Given the description of an element on the screen output the (x, y) to click on. 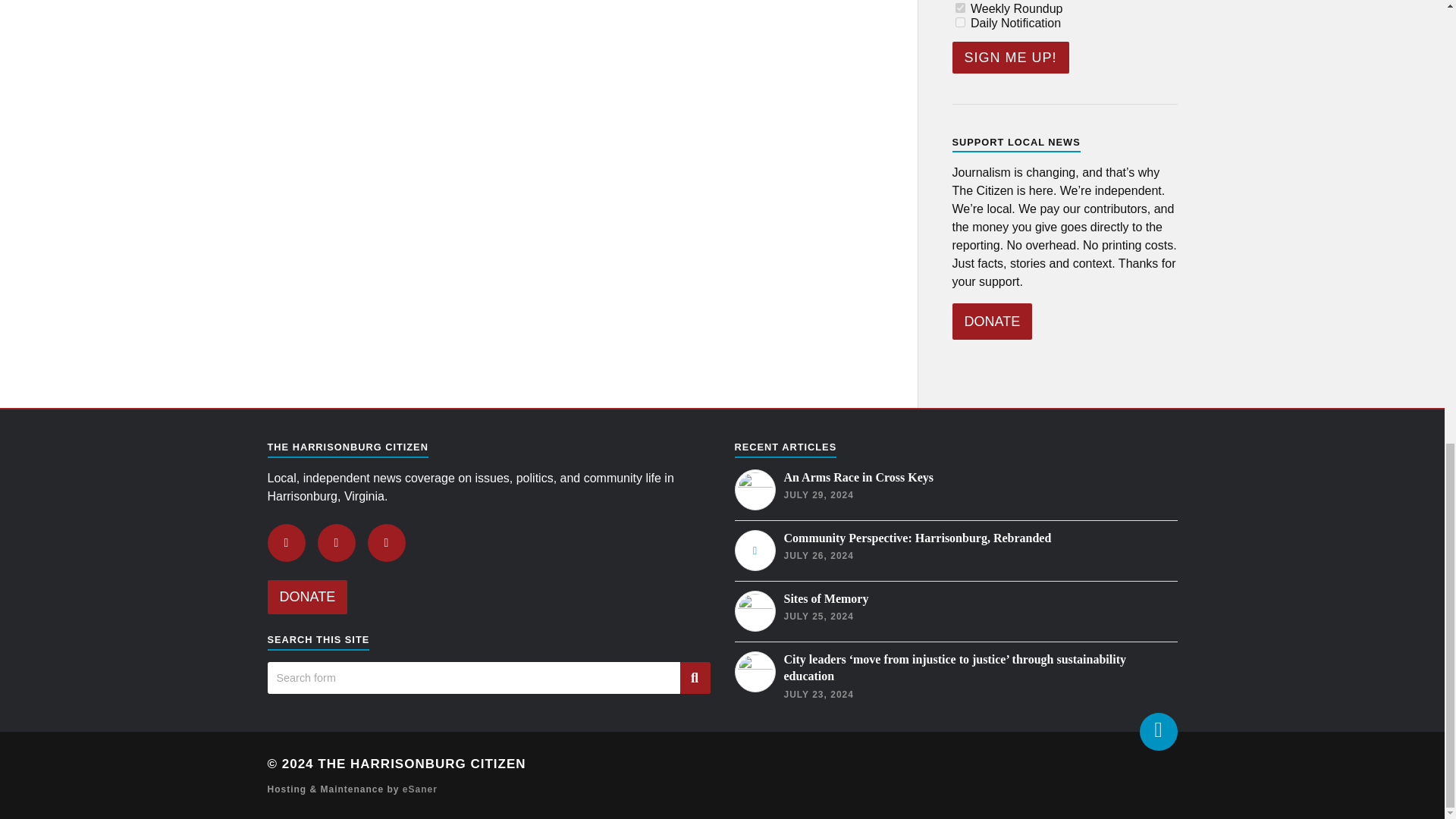
3fe0729a7e (960, 22)
To the top (1157, 731)
Sign me up! (1010, 57)
Sign me up! (1010, 57)
DONATE (992, 321)
86d305d8aa (960, 8)
